Given the description of an element on the screen output the (x, y) to click on. 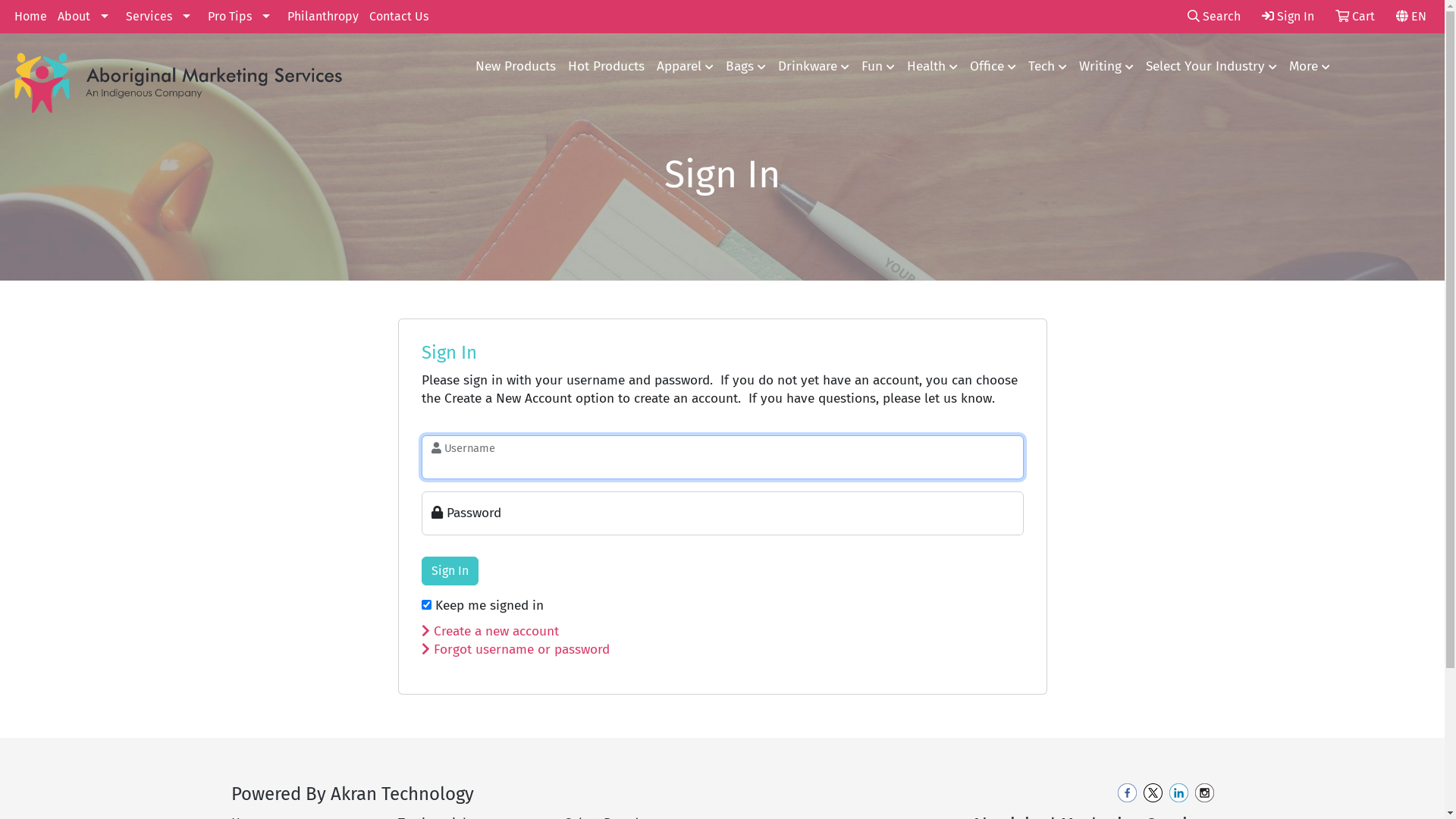
EN Element type: text (1410, 16)
Visit us on Facebook Element type: hover (1126, 792)
About Element type: text (86, 16)
Tech Element type: text (1047, 66)
Sign In Element type: text (1287, 16)
New Products Element type: text (515, 66)
Fun Element type: text (877, 66)
Apparel Element type: text (684, 66)
Visit us on Instagram Element type: hover (1204, 792)
Visit us on Twitter Element type: hover (1152, 792)
More Element type: text (1309, 66)
Visit us on LinkedIn Element type: hover (1178, 792)
Bags Element type: text (745, 66)
Search Element type: text (1213, 16)
Contact Us Element type: text (398, 16)
Philanthropy Element type: text (323, 16)
Pro Tips Element type: text (242, 16)
Cart Element type: text (1355, 16)
Writing Element type: text (1106, 66)
Hot Products Element type: text (605, 66)
Office Element type: text (992, 66)
Drinkware Element type: text (813, 66)
Home Element type: text (30, 16)
subpage Element type: hover (722, 506)
Select Your Industry Element type: text (1211, 66)
Health Element type: text (931, 66)
Services Element type: text (161, 16)
